Given the description of an element on the screen output the (x, y) to click on. 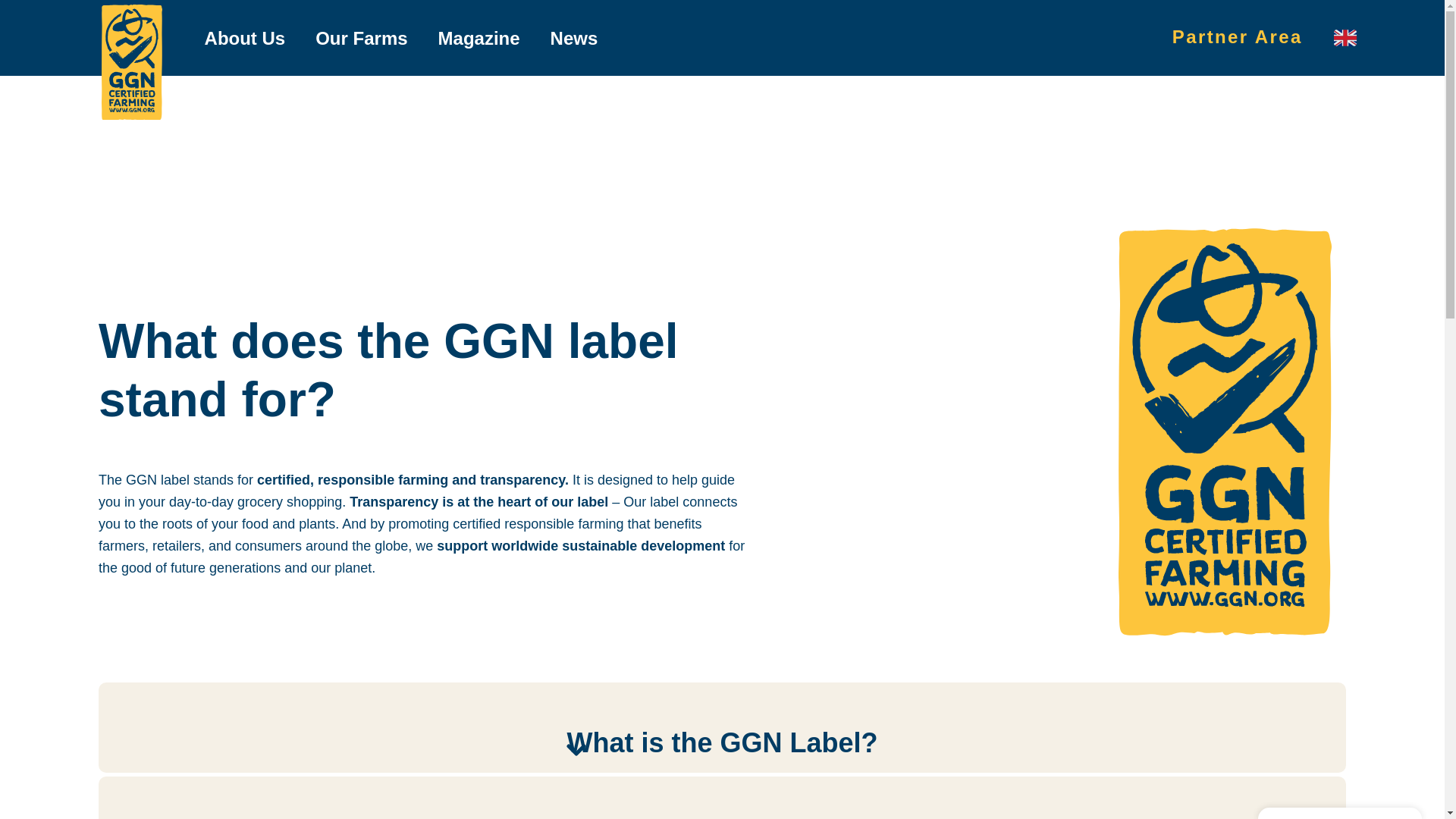
Magazine (478, 37)
News (574, 37)
Partner Area (1237, 36)
About Us (245, 37)
Our Farms (361, 37)
